Given the description of an element on the screen output the (x, y) to click on. 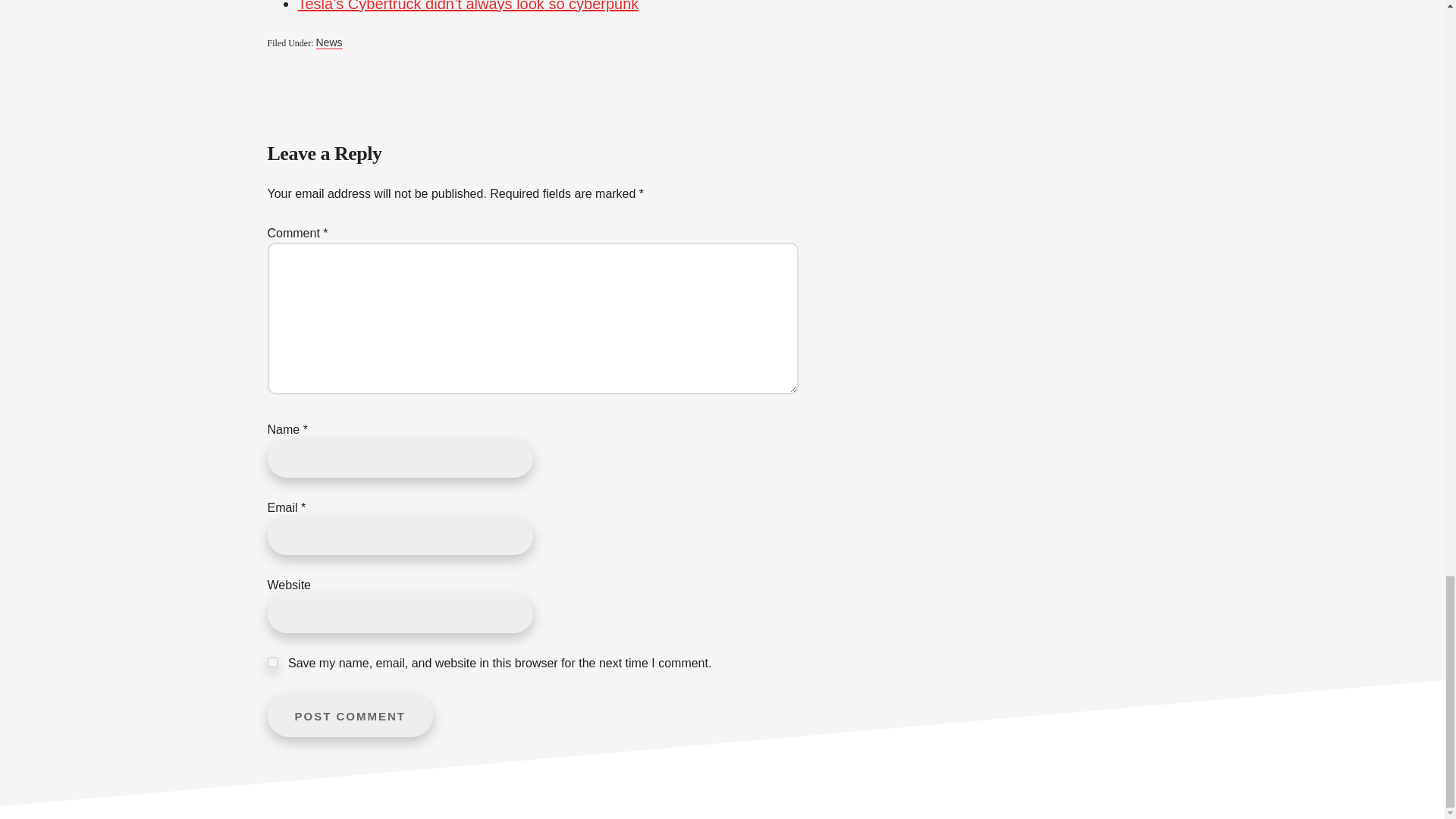
yes (271, 662)
Post Comment (349, 715)
